Given the description of an element on the screen output the (x, y) to click on. 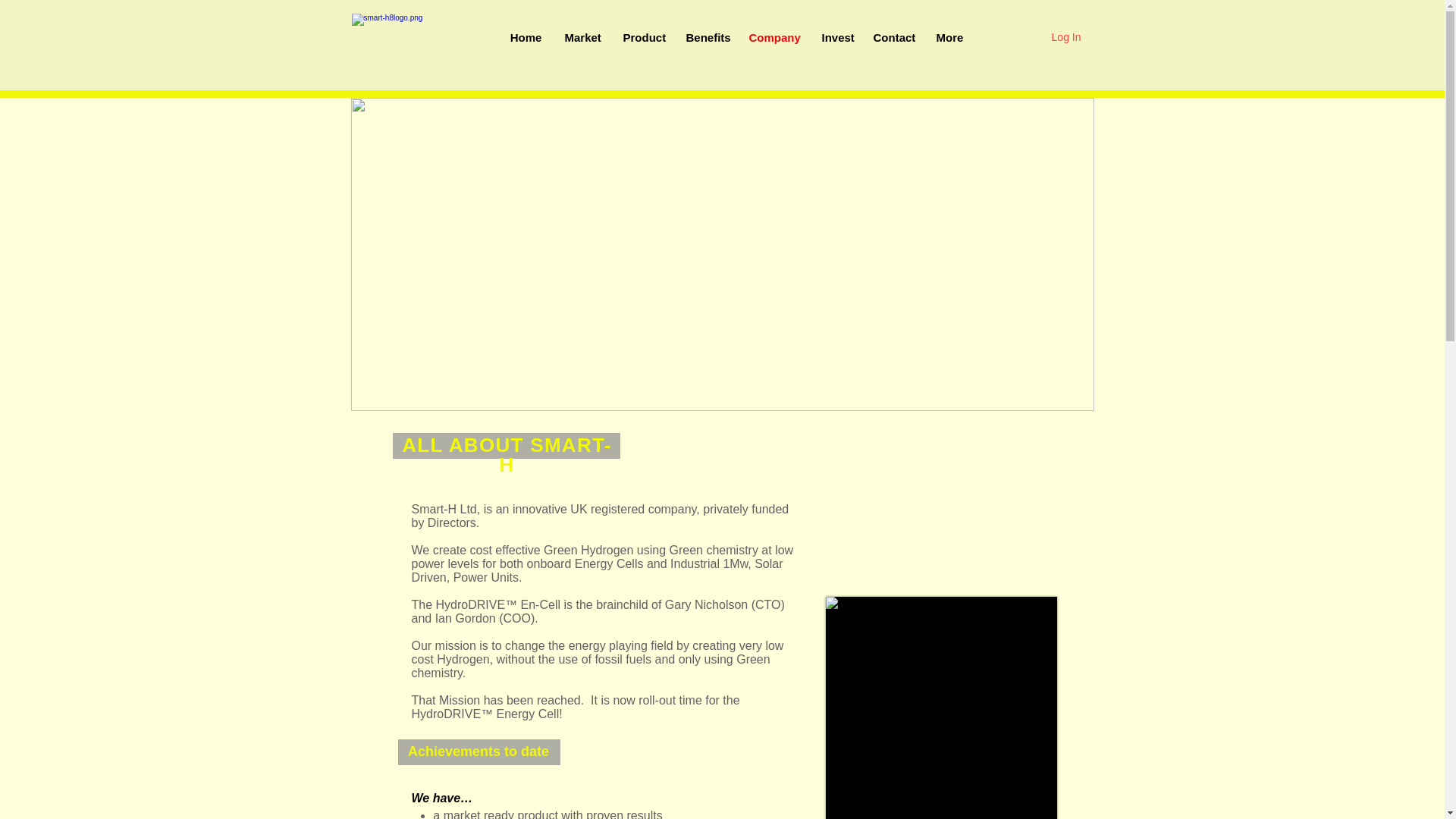
Company (772, 37)
Home (526, 37)
Contact (892, 37)
Log In (1066, 37)
Product (642, 37)
Market (582, 37)
Invest (835, 37)
Benefits (706, 37)
